Given the description of an element on the screen output the (x, y) to click on. 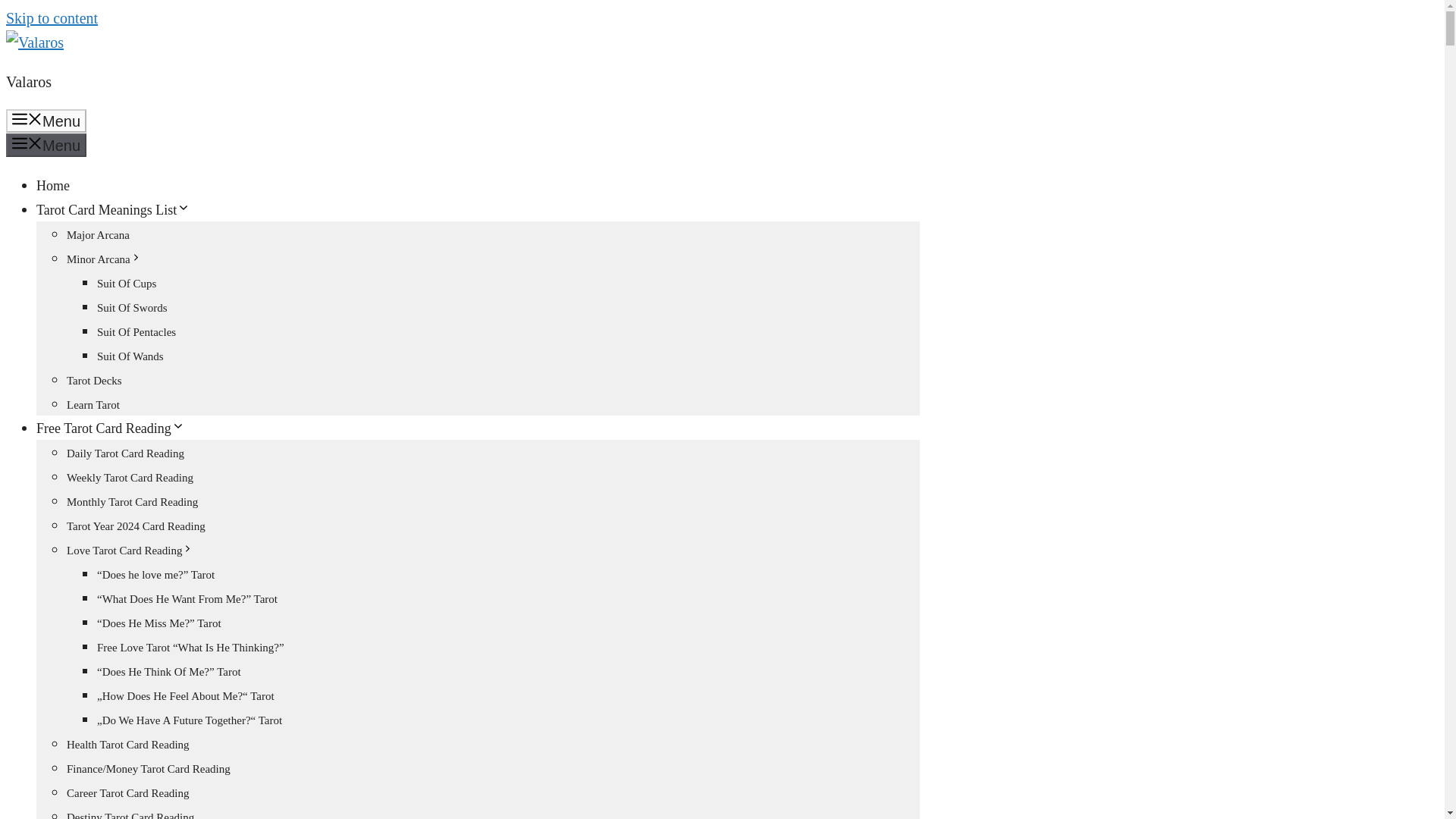
Tarot Decks (94, 380)
Valaros (27, 81)
Suit Of Wands (130, 356)
Health Tarot Card Reading (127, 744)
Menu (45, 120)
Suit Of Pentacles (136, 331)
Suit Of Swords (132, 307)
Weekly Tarot Card Reading (129, 477)
Skip to content (51, 17)
Major Arcana (97, 234)
Destiny Tarot Card Reading (129, 815)
Suit Of Cups (126, 283)
Home (52, 185)
Minor Arcana (103, 259)
Love Tarot Card Reading (129, 550)
